Given the description of an element on the screen output the (x, y) to click on. 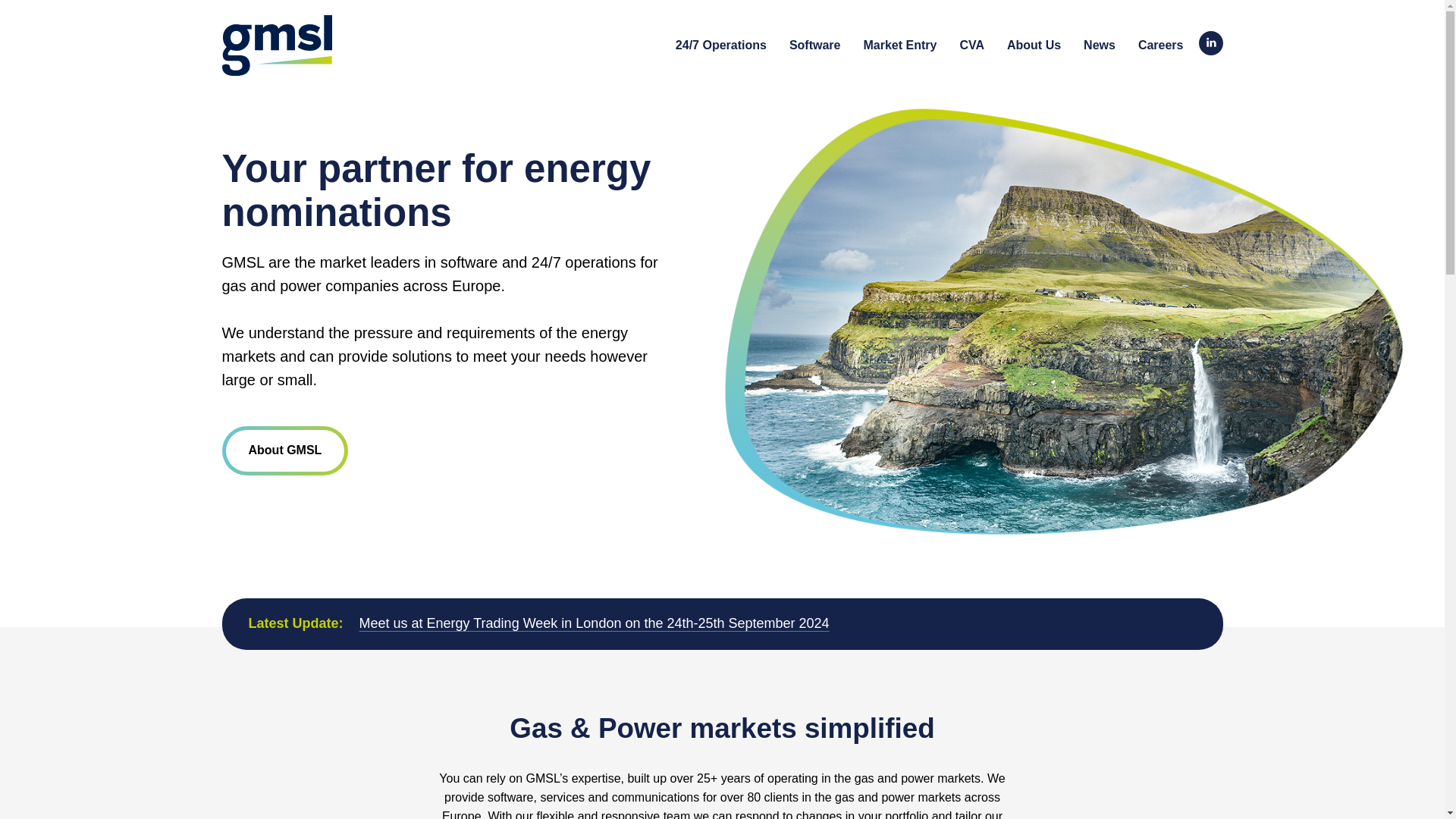
Market Entry (899, 47)
GMSL (276, 45)
Software (815, 47)
About Us (1034, 47)
About GMSL (284, 450)
News (1099, 47)
Careers (1160, 47)
CVA (971, 47)
